Given the description of an element on the screen output the (x, y) to click on. 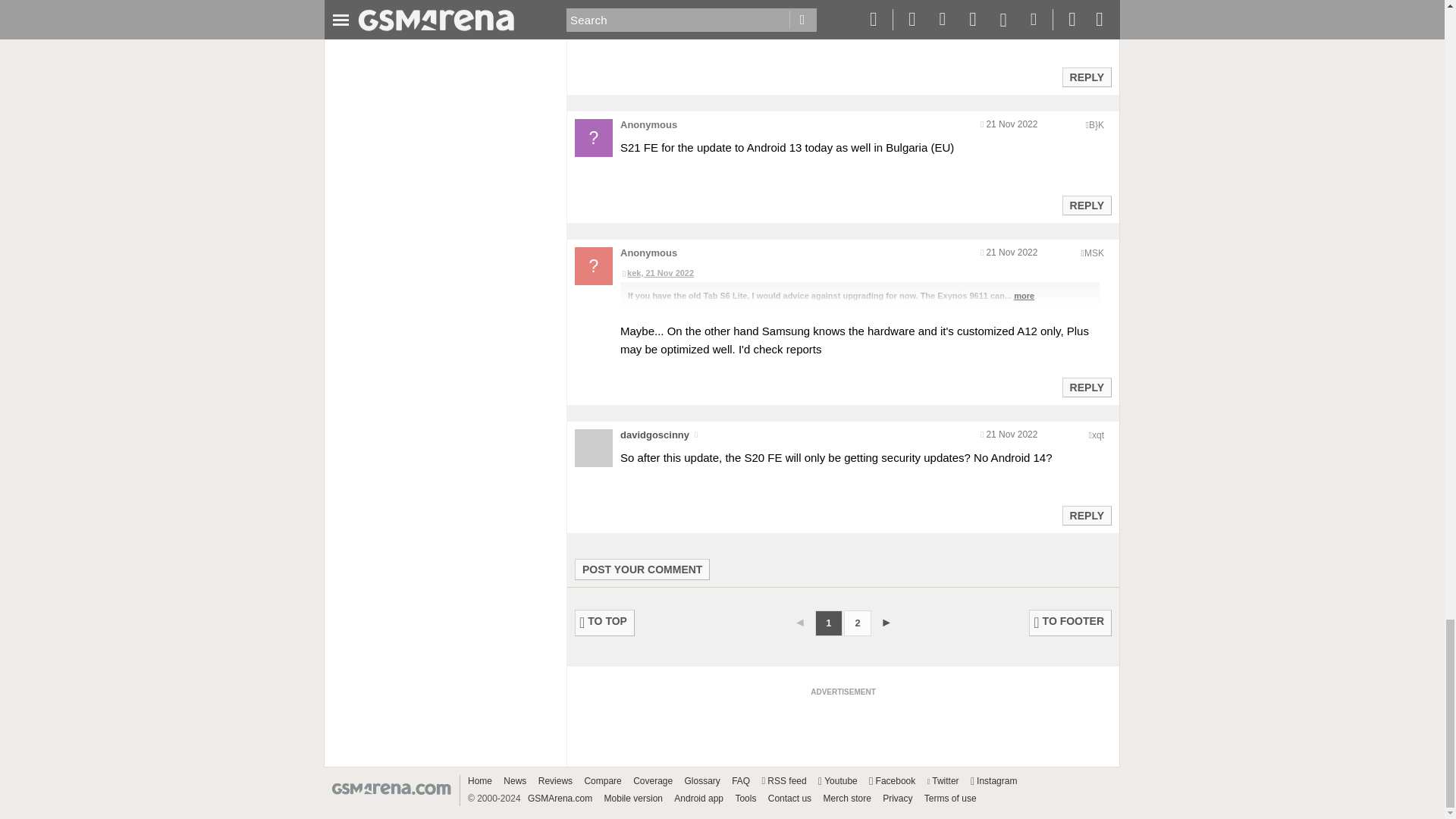
TO TOP (604, 622)
